Given the description of an element on the screen output the (x, y) to click on. 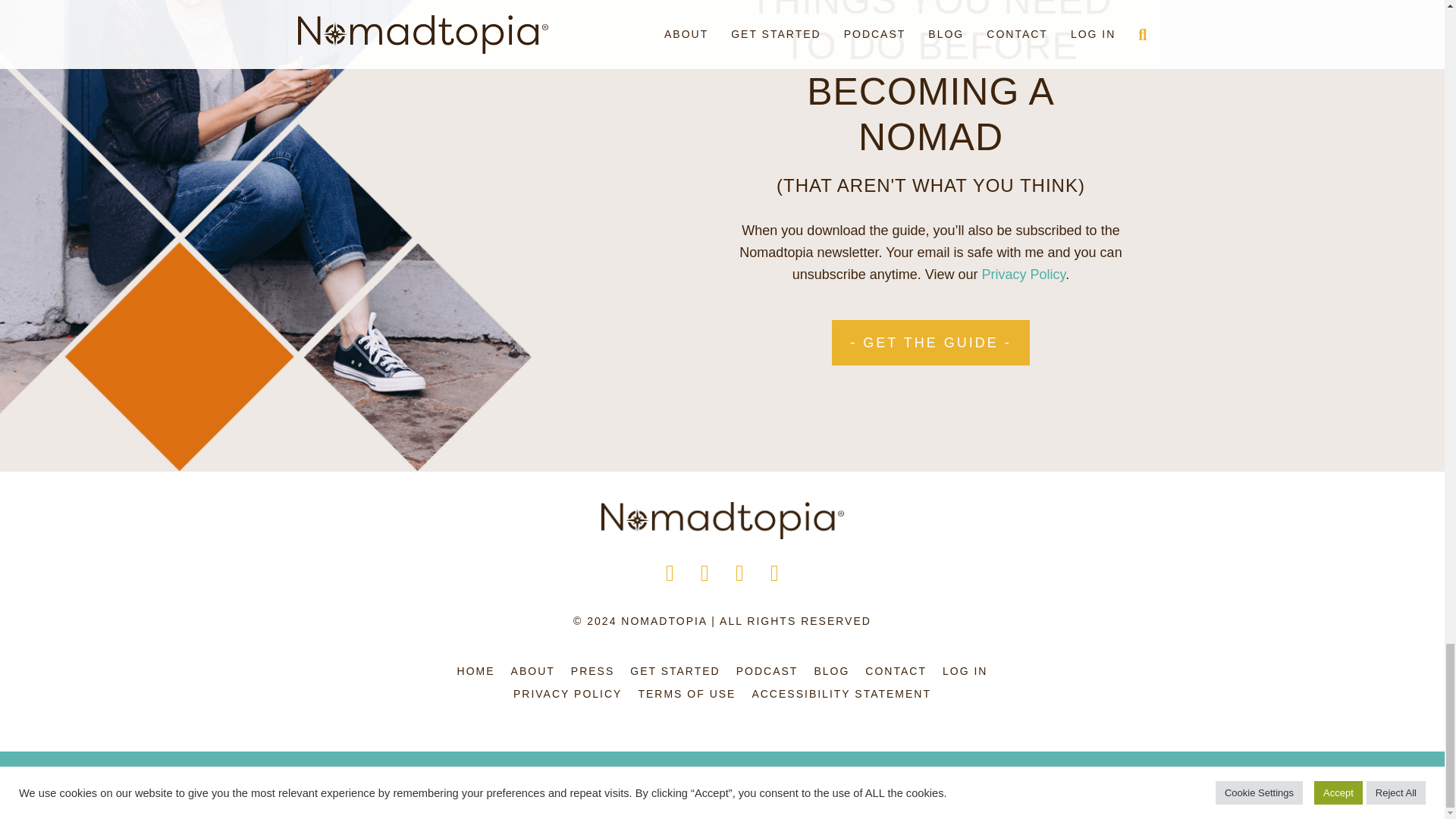
Privacy Policy (1023, 273)
- GET THE GUIDE - (930, 342)
Nomadtopia logo (721, 520)
